Given the description of an element on the screen output the (x, y) to click on. 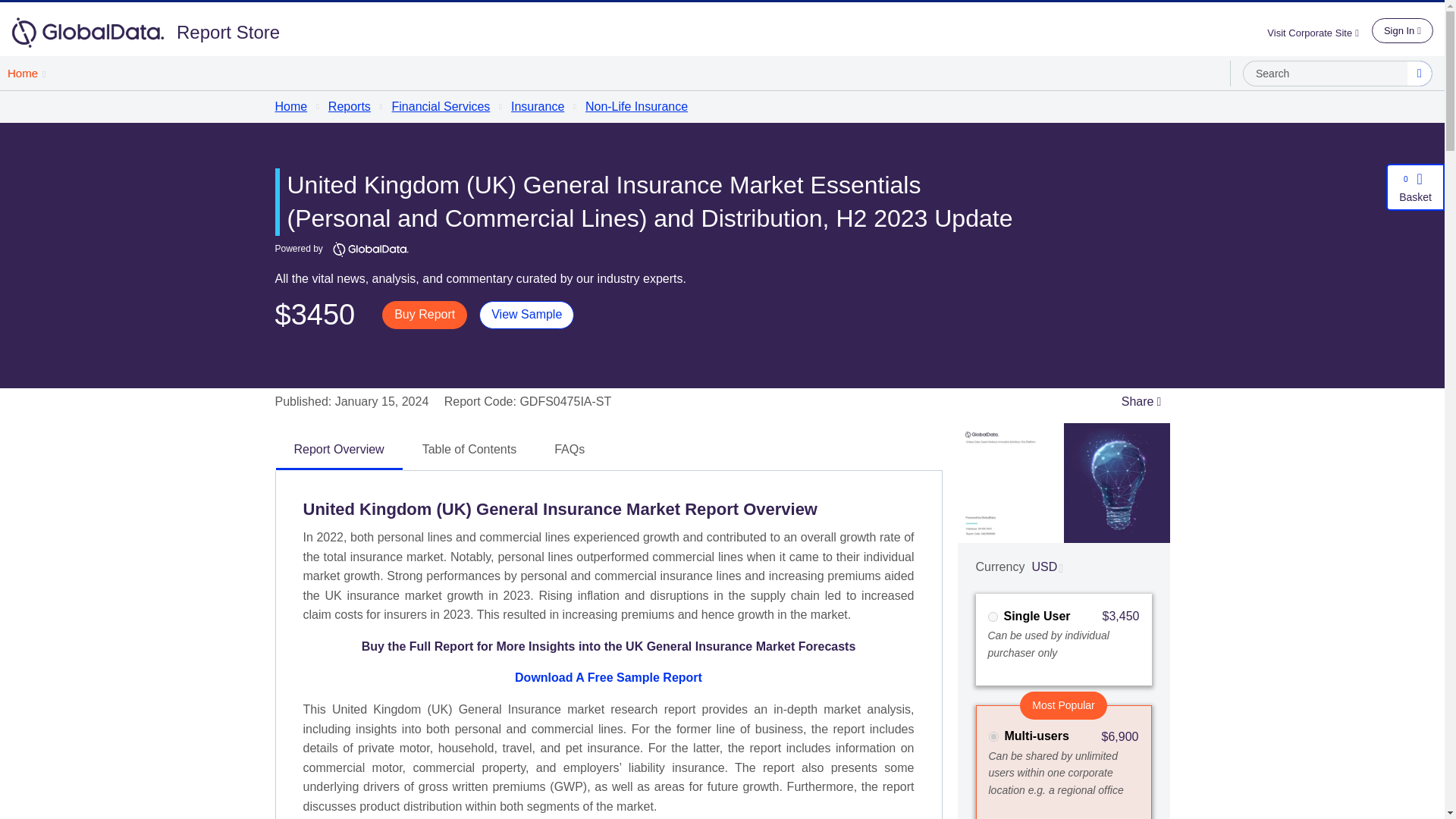
Visit Corporate Site (1318, 31)
Sign In (1401, 30)
3340096 (993, 737)
3340095 (992, 615)
Home (26, 73)
